Given the description of an element on the screen output the (x, y) to click on. 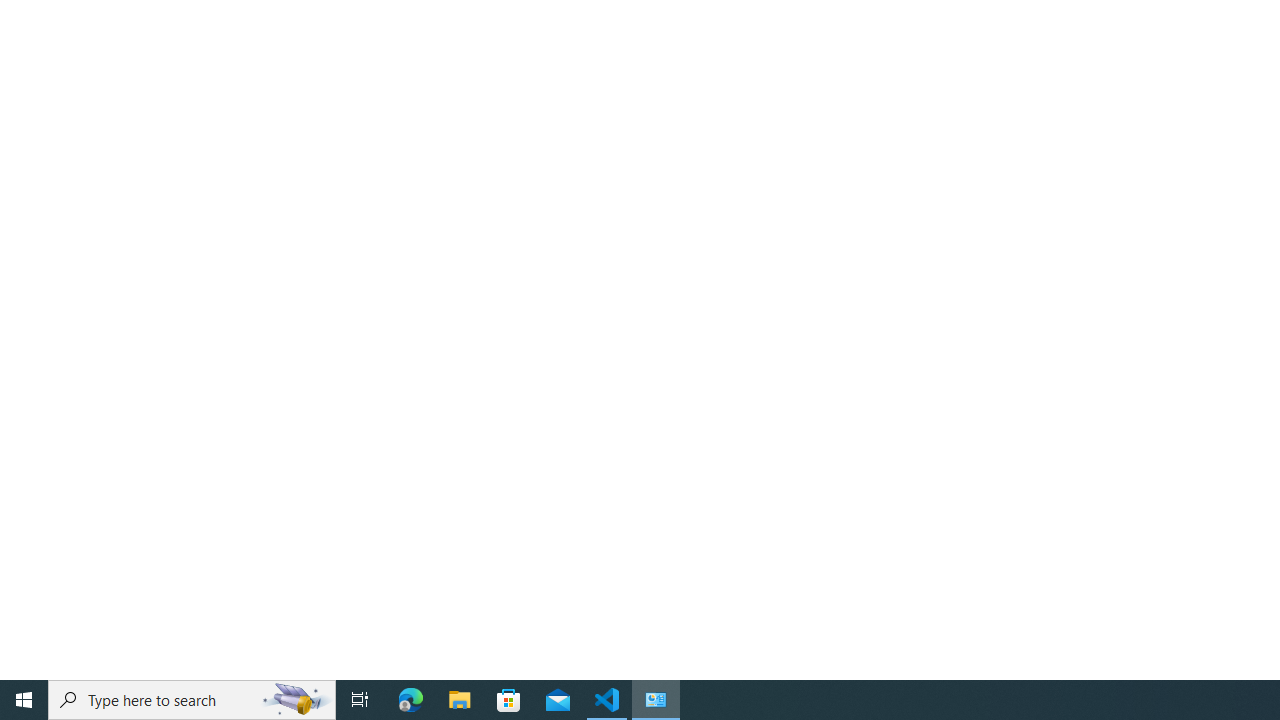
Control Panel - 1 running window (656, 699)
